Given the description of an element on the screen output the (x, y) to click on. 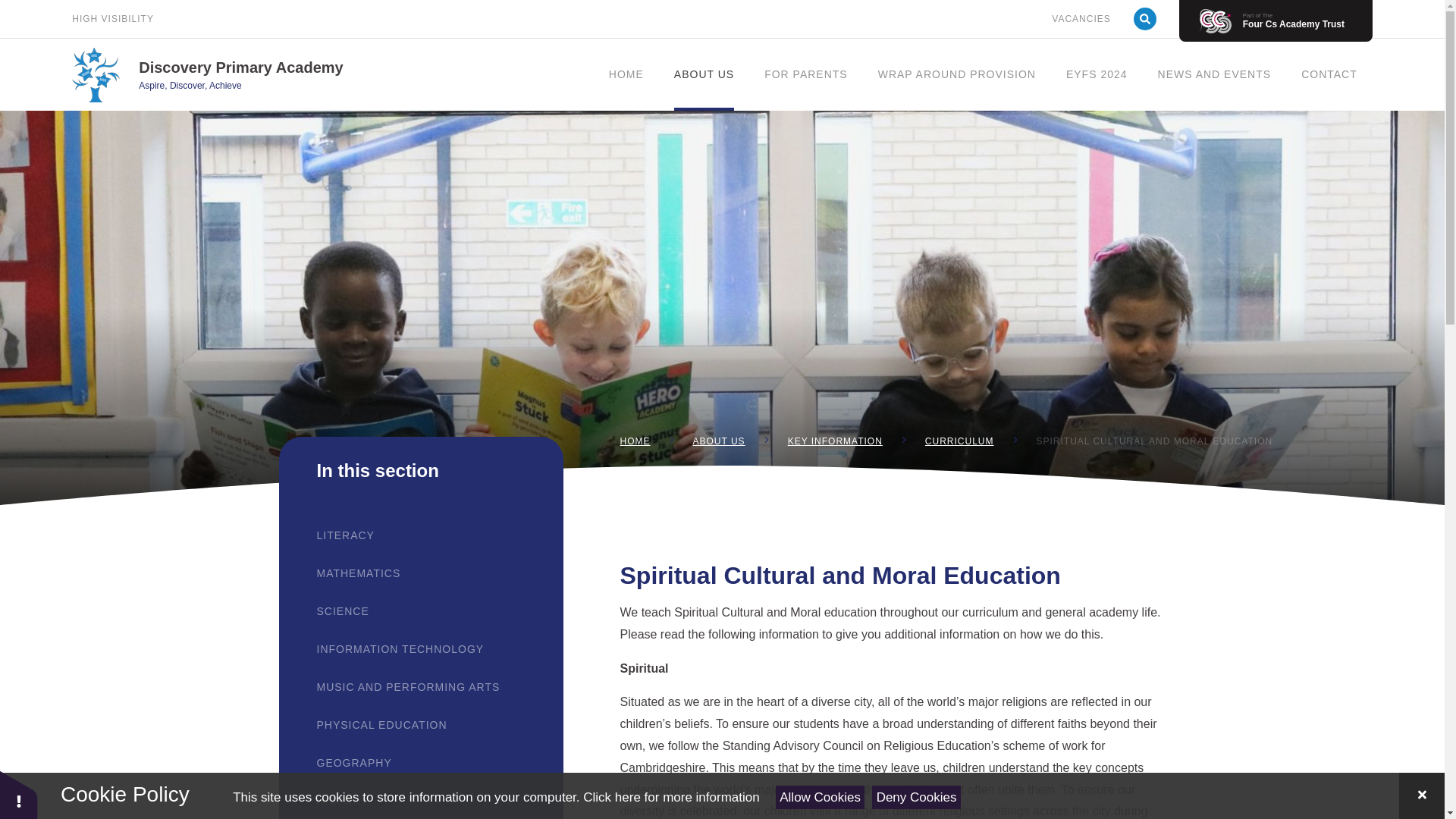
VACANCIES (1080, 18)
See cookie policy (670, 797)
Allow Cookies (820, 797)
HOME (626, 74)
HIGH VISIBILITY (112, 18)
Toggle Search (1145, 18)
ABOUT US (704, 74)
Deny Cookies (915, 797)
